Given the description of an element on the screen output the (x, y) to click on. 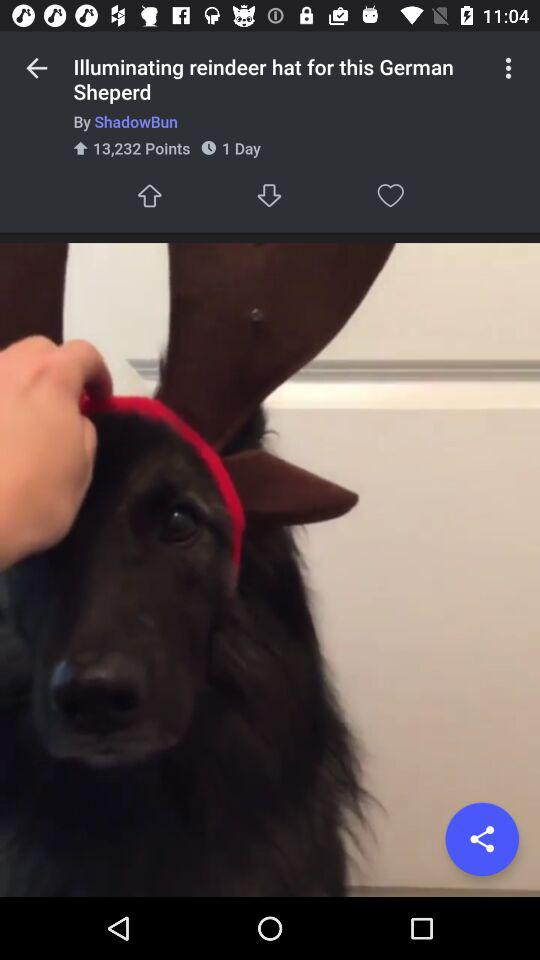
scroll down (269, 195)
